Given the description of an element on the screen output the (x, y) to click on. 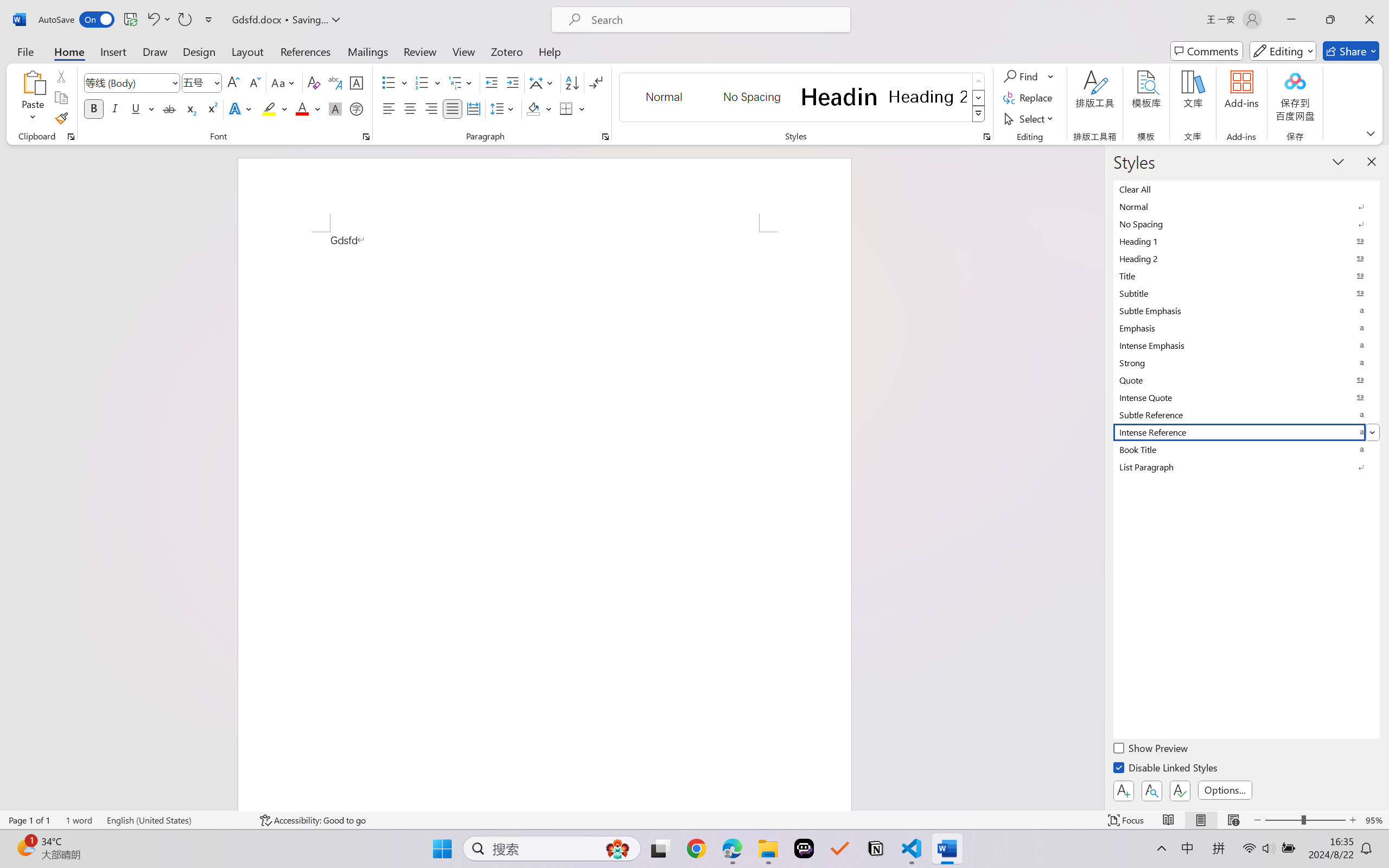
Page 1 content (544, 521)
Subtle Emphasis (1246, 310)
Sort... (571, 82)
Heading 2 (927, 96)
Italic (115, 108)
Font... (365, 136)
